Given the description of an element on the screen output the (x, y) to click on. 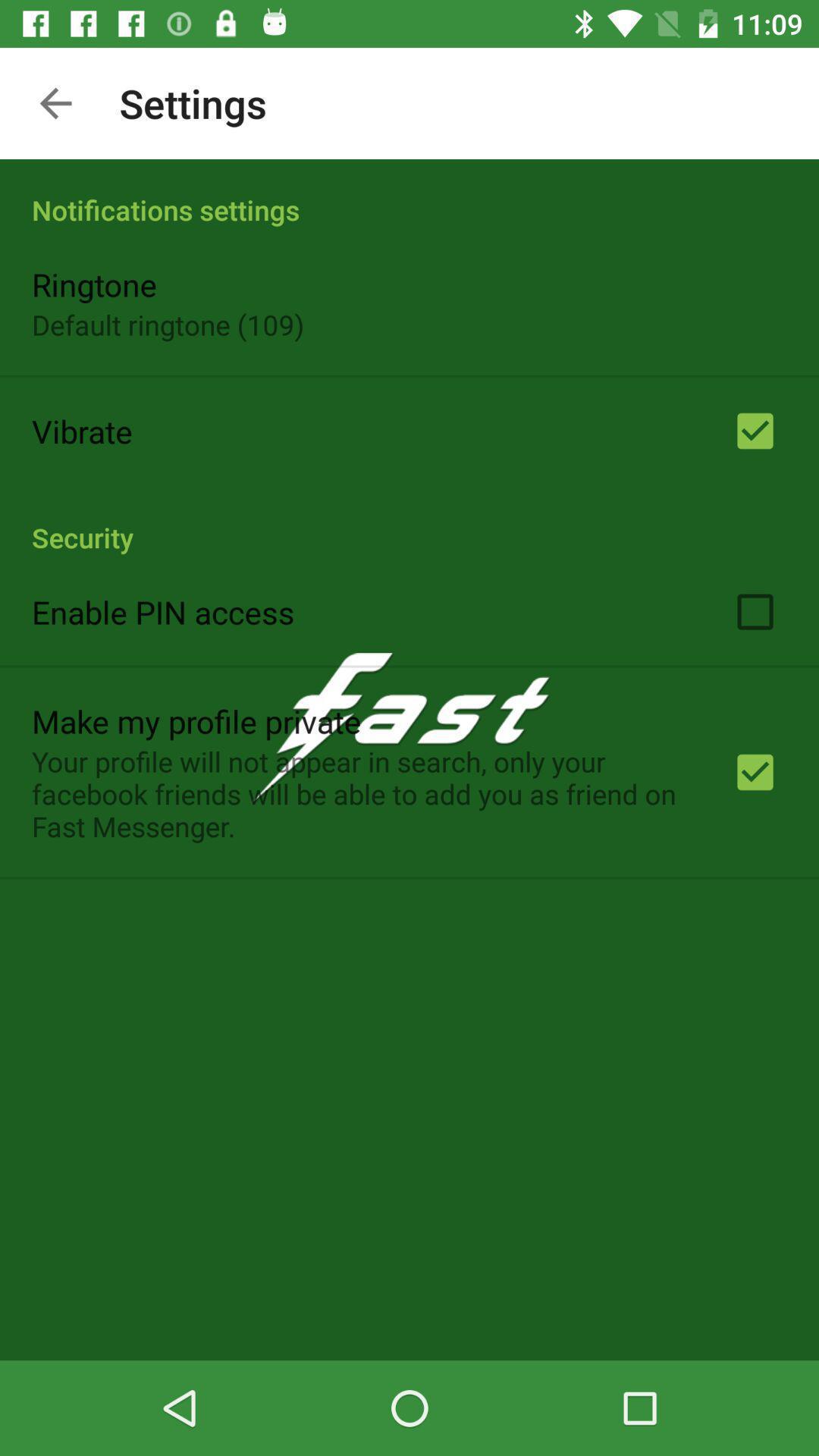
press item above the ringtone (409, 193)
